Given the description of an element on the screen output the (x, y) to click on. 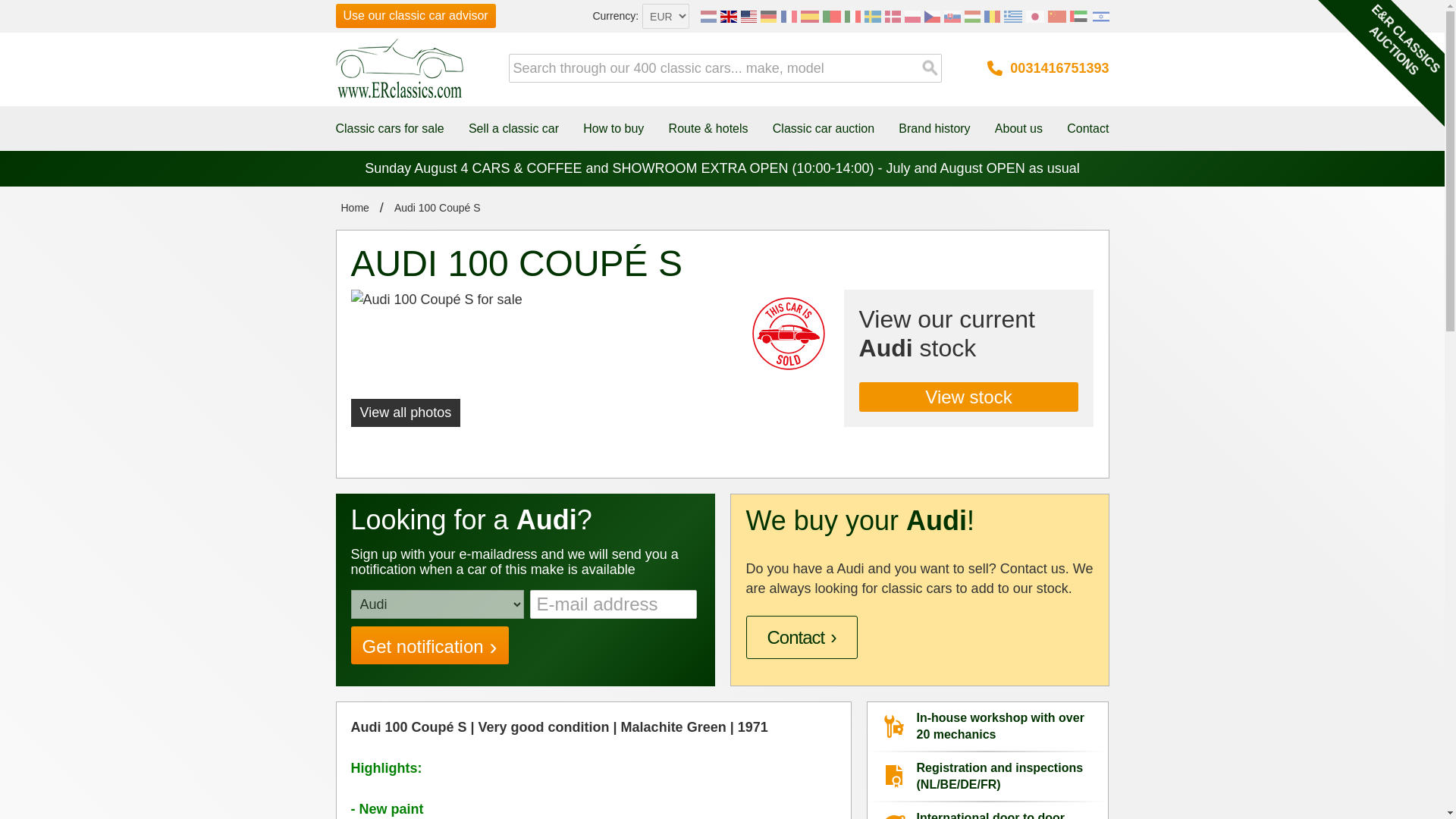
Sell a classic car (513, 128)
Use our classic car advisor (414, 15)
Home (354, 208)
Go to Home Page (354, 208)
Classic car auction (824, 128)
How to buy (613, 128)
Classic cars for sale (389, 128)
About us (1018, 128)
0031416751393 (1047, 67)
Your Currency (665, 16)
Brand history (933, 128)
Contact (1087, 128)
Search (930, 68)
